Given the description of an element on the screen output the (x, y) to click on. 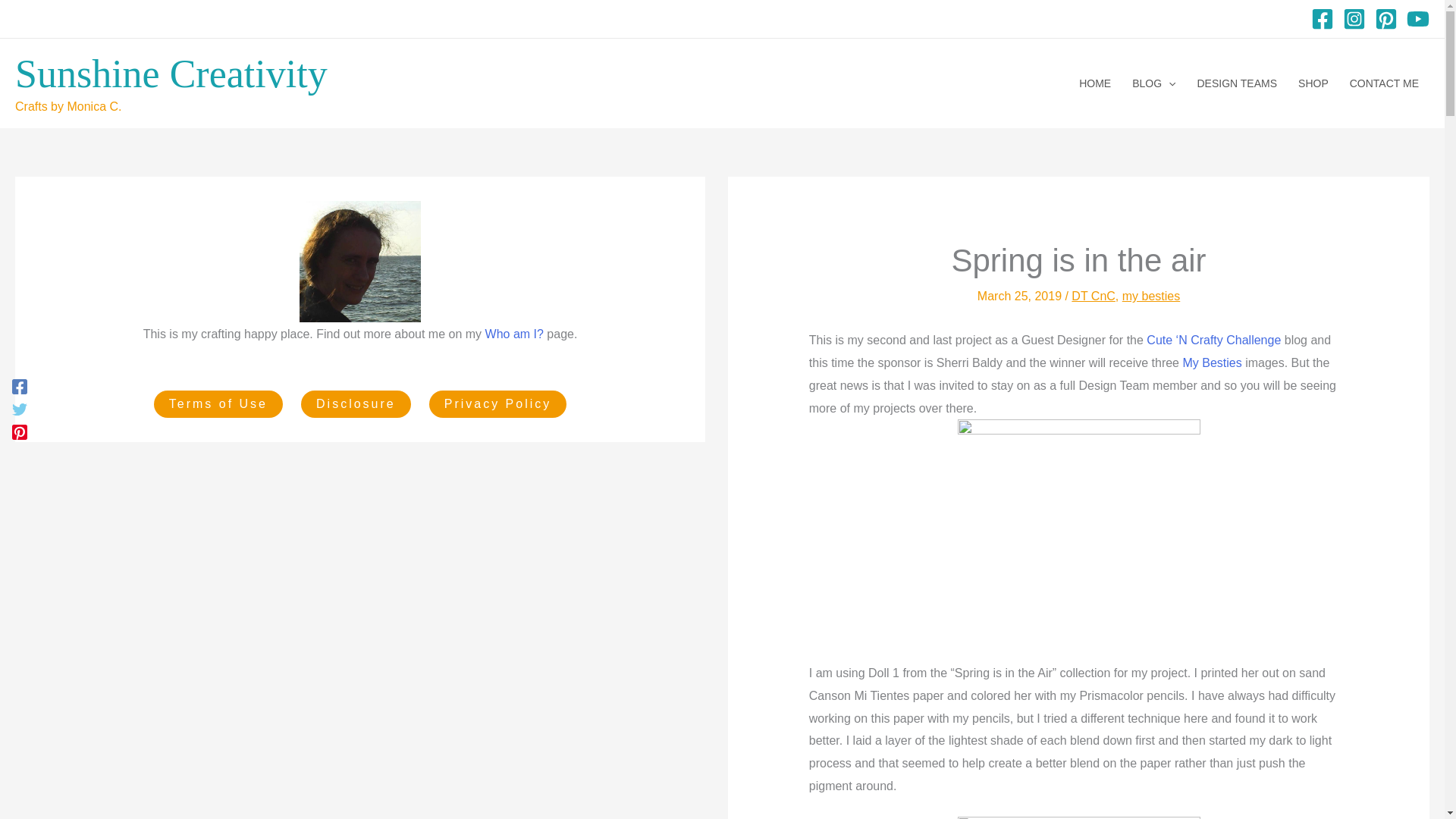
DESIGN TEAMS (1236, 82)
Sunshine Creativity (170, 73)
HOME (1094, 82)
SHOP (1313, 82)
CONTACT ME (1384, 82)
BLOG (1153, 82)
